Given the description of an element on the screen output the (x, y) to click on. 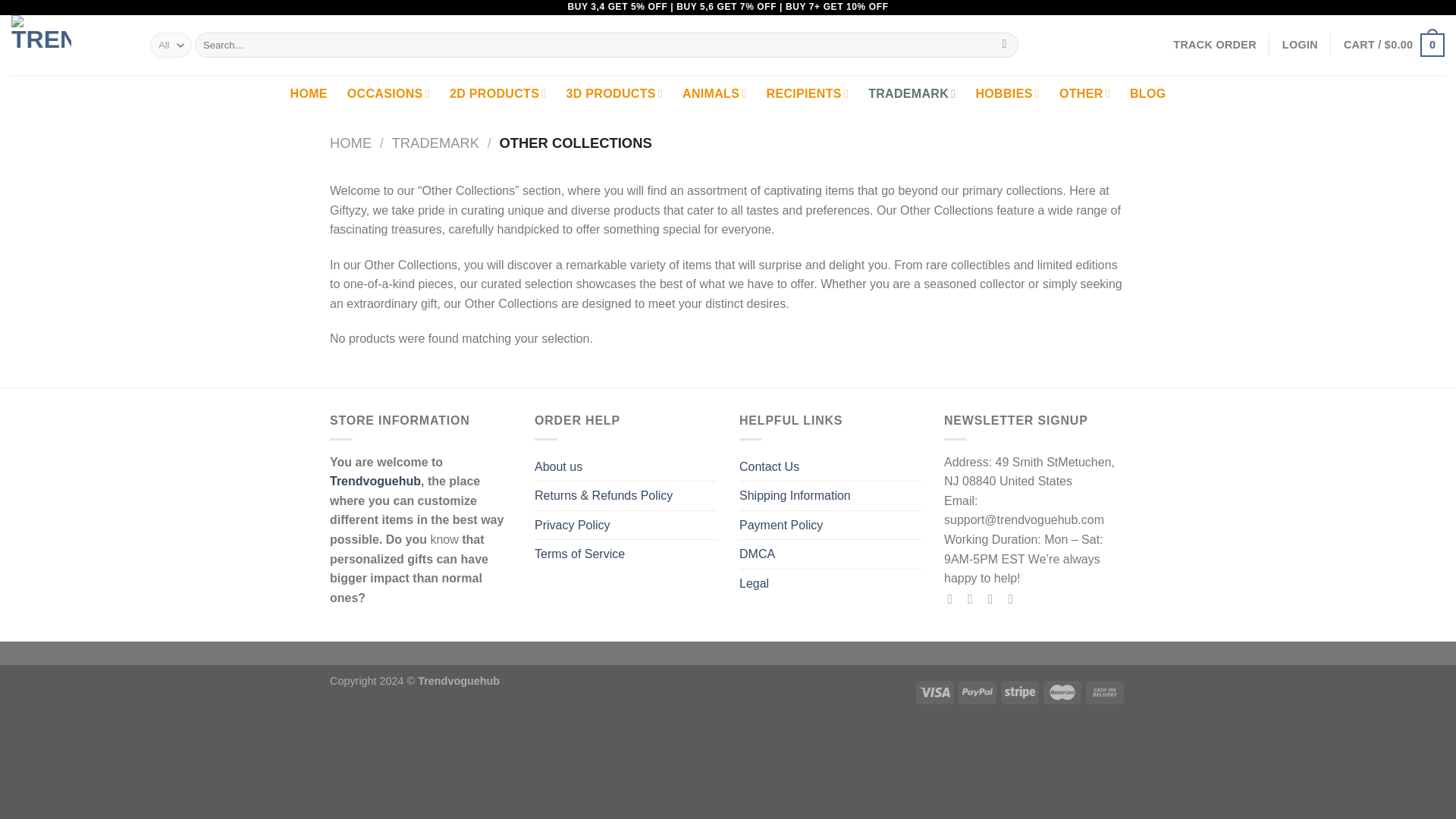
HOME (308, 94)
OCCASIONS (388, 94)
ANIMALS (713, 94)
Cart (1393, 44)
2D PRODUCTS (498, 94)
Follow on Facebook (953, 598)
Follow on Pinterest (1015, 598)
TRACK ORDER (1214, 44)
Track your order here! (1214, 44)
3D PRODUCTS (614, 94)
